Given the description of an element on the screen output the (x, y) to click on. 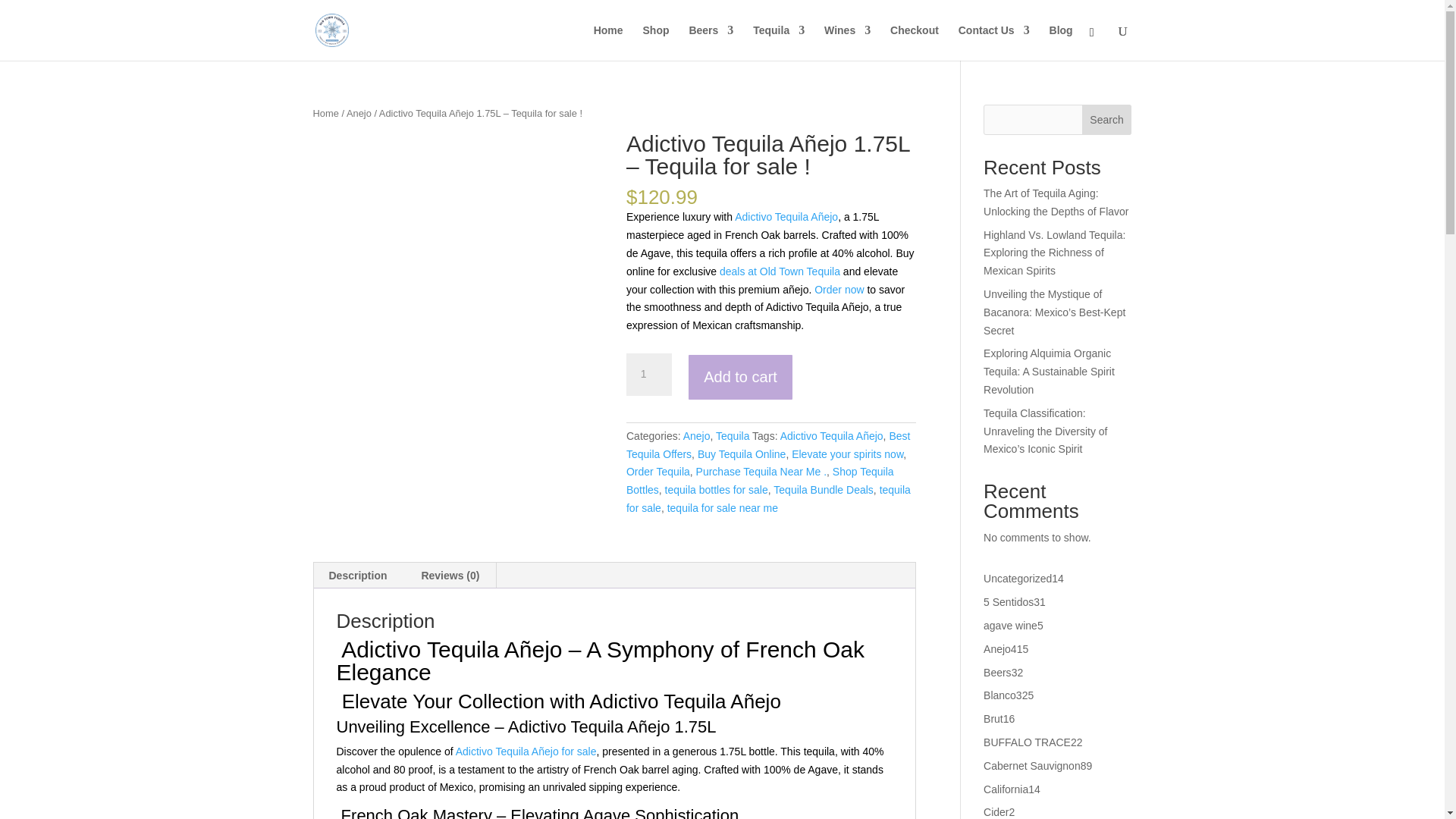
Add to cart (740, 376)
1 (648, 373)
Anejo (358, 112)
Wines (847, 42)
Beers (710, 42)
Home (325, 112)
Best Tequila Offers (768, 444)
Anejo (696, 435)
Tequila (778, 42)
deals at Old Town Tequila (779, 271)
Tequila (732, 435)
Order now (836, 289)
Checkout (914, 42)
Contact Us (993, 42)
